Given the description of an element on the screen output the (x, y) to click on. 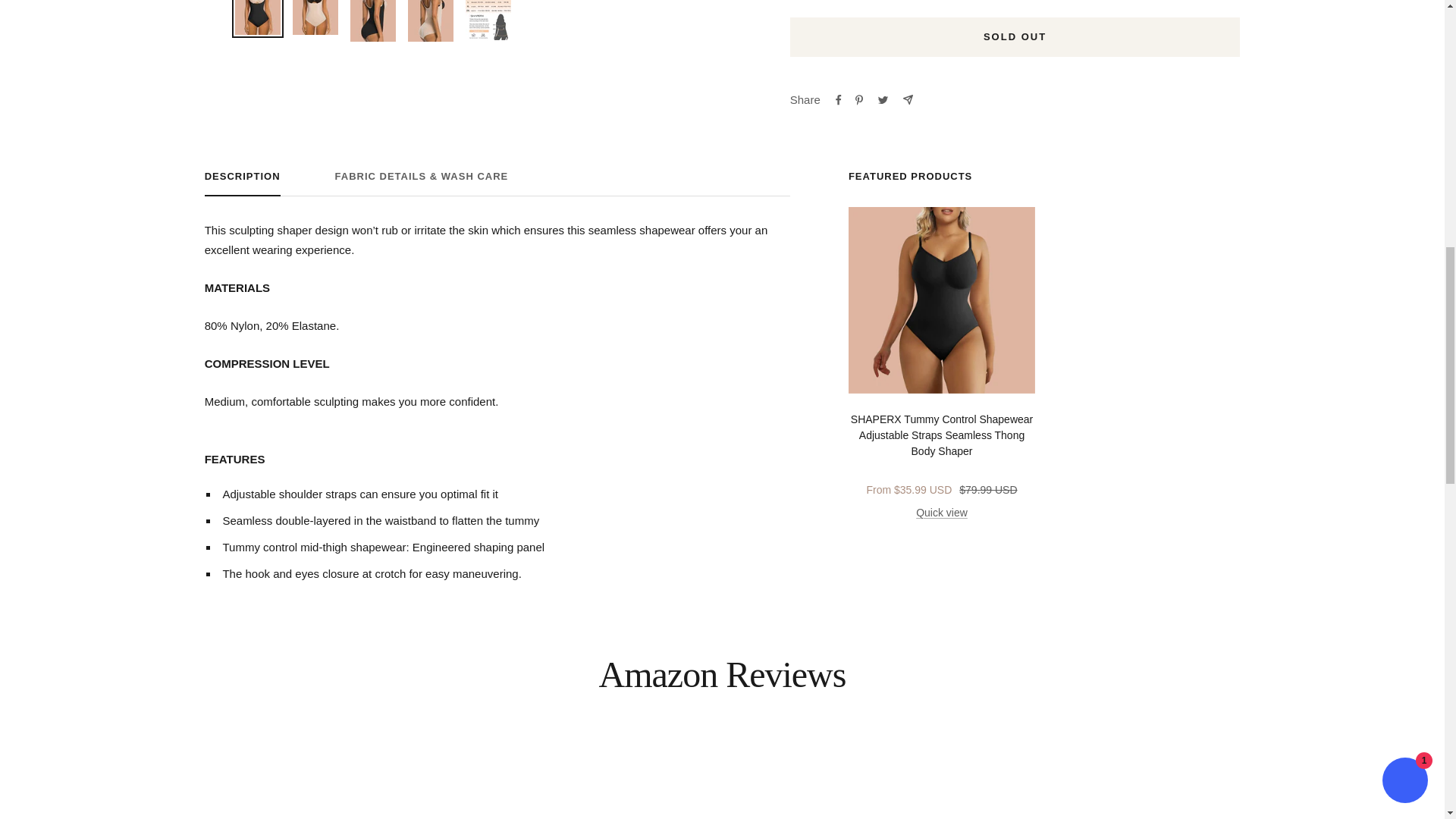
SOLD OUT (1015, 36)
